Given the description of an element on the screen output the (x, y) to click on. 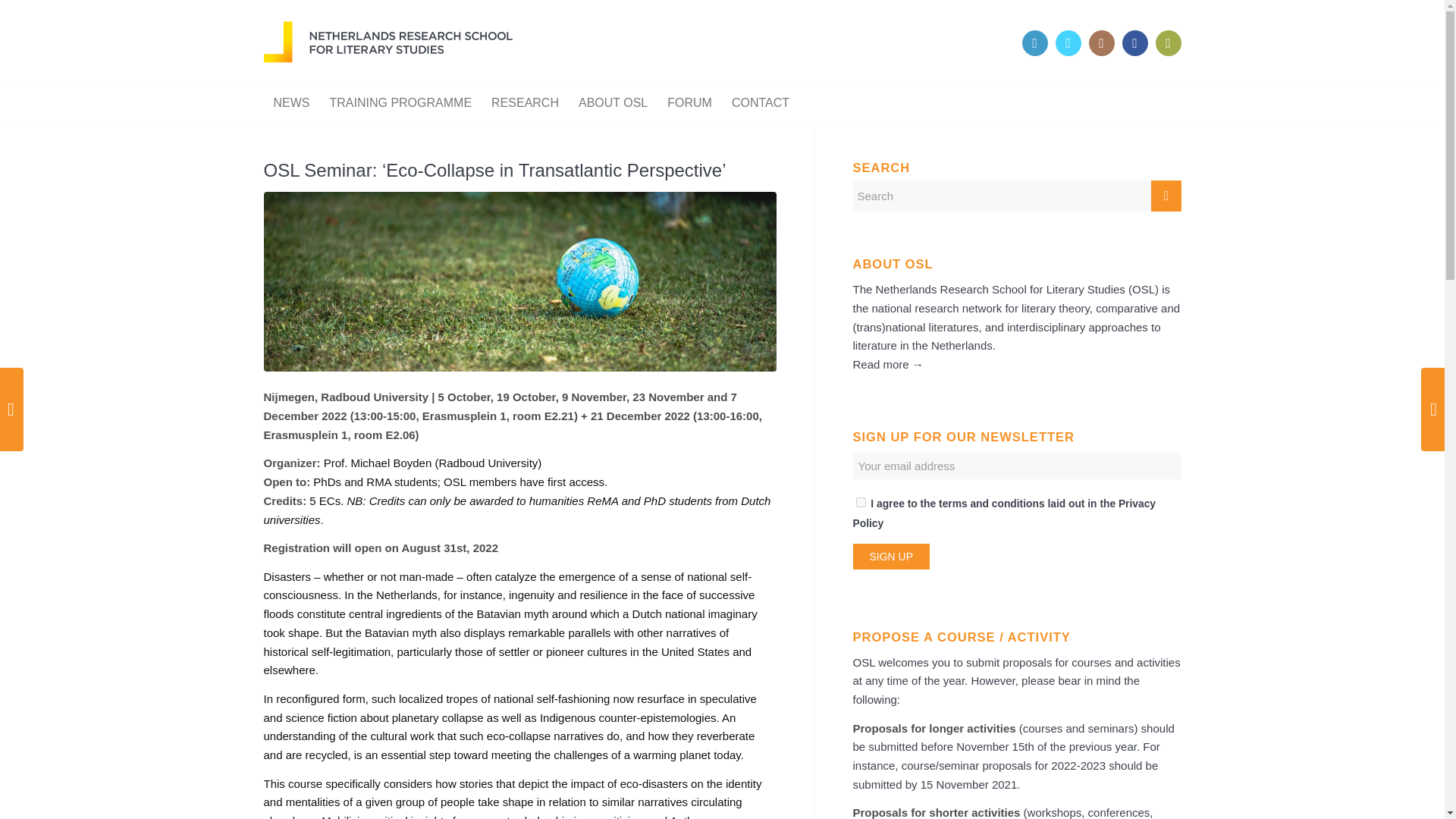
CONTACT (760, 103)
Facebook (1135, 43)
FORUM (690, 103)
TRAINING PROGRAMME (400, 103)
ABOUT OSL (613, 103)
NEWS (291, 103)
Instagram (1102, 43)
LinkedIn (1035, 43)
1 (860, 501)
Mail (1168, 43)
